Given the description of an element on the screen output the (x, y) to click on. 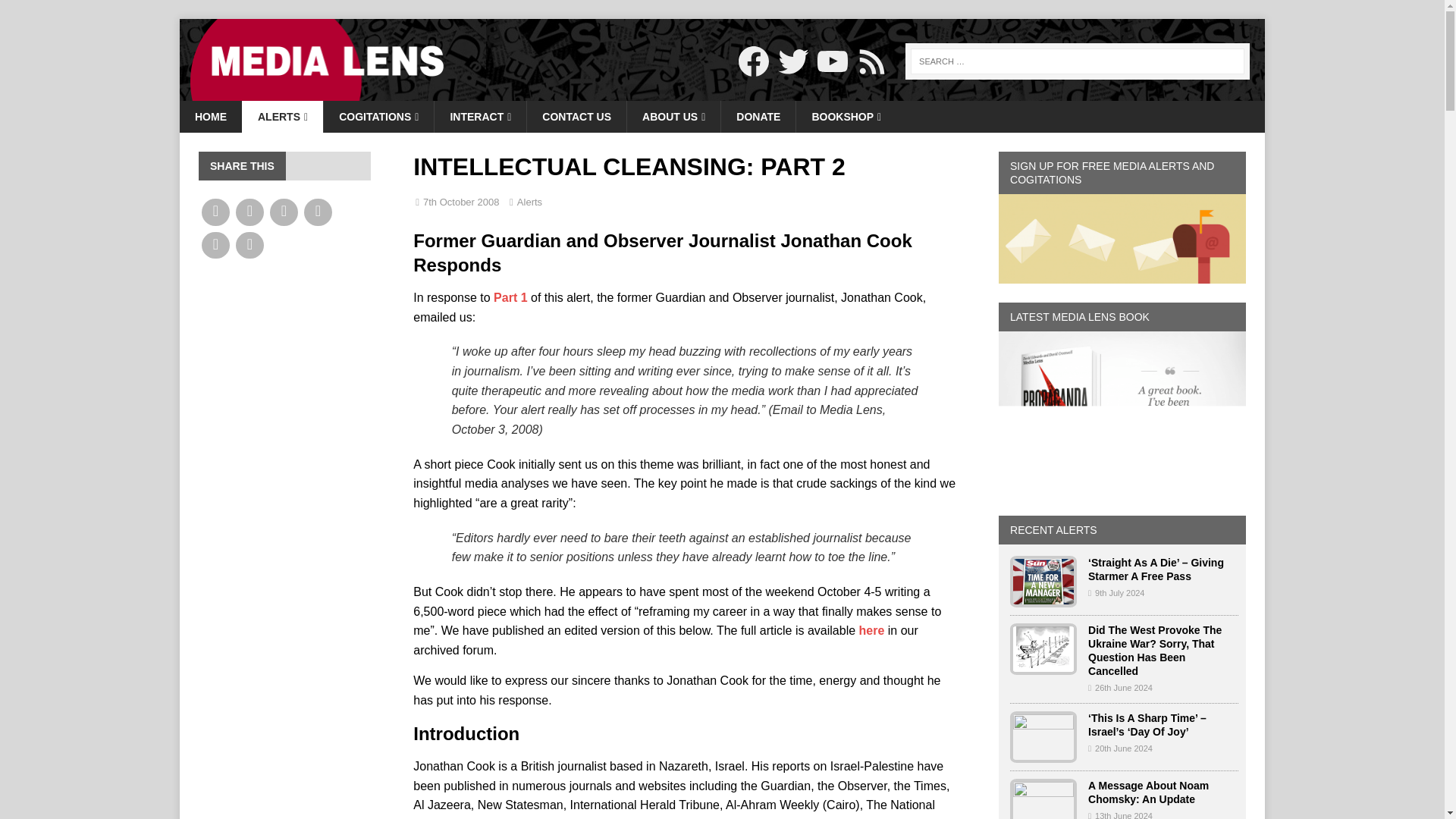
Search (56, 11)
